Given the description of an element on the screen output the (x, y) to click on. 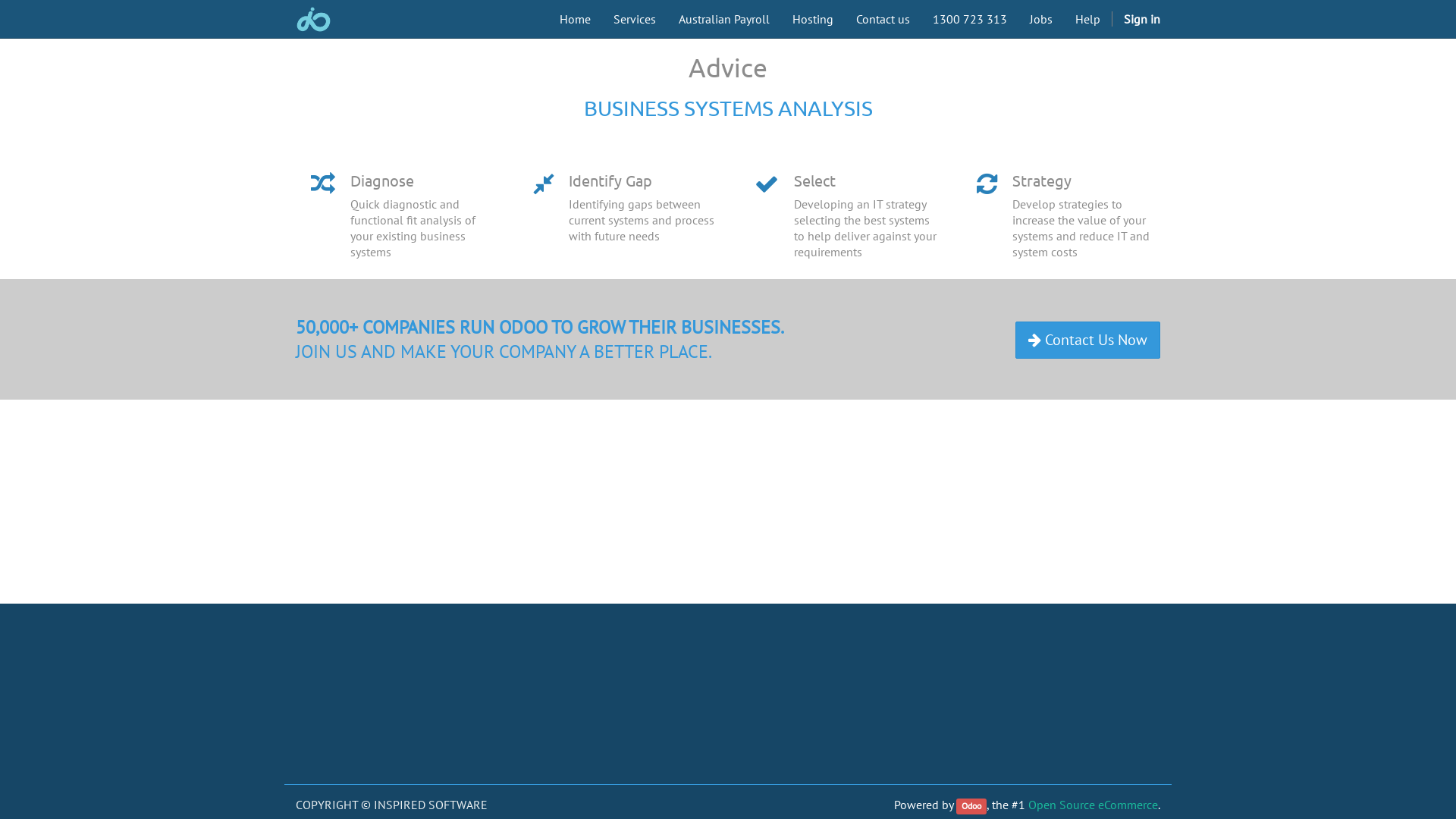
1300 723 313 Element type: text (969, 18)
Australian Payroll Element type: text (724, 18)
Jobs Element type: text (1040, 18)
Odoo Element type: text (971, 806)
Home Element type: text (575, 18)
Open Source eCommerce Element type: text (1092, 804)
Services Element type: text (634, 18)
Contact Us Now Element type: text (1087, 339)
Hosting Element type: text (812, 18)
Help Element type: text (1087, 18)
Inspired Software Element type: hover (313, 19)
Contact us Element type: text (882, 18)
Sign in Element type: text (1141, 18)
